Given the description of an element on the screen output the (x, y) to click on. 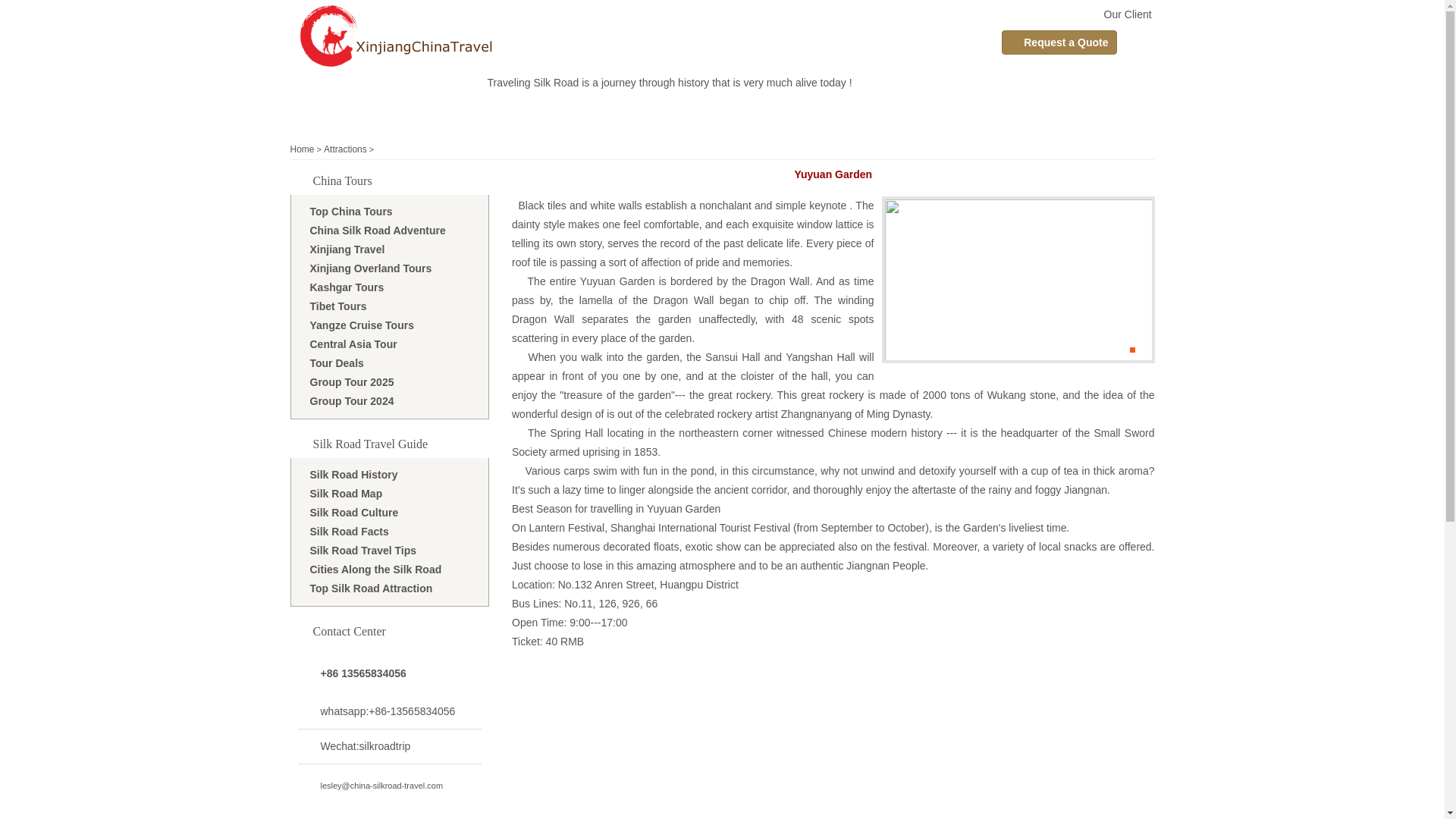
Our Client (1127, 14)
Silk Road Guide (927, 112)
Destinations (848, 112)
China Tours (539, 112)
Group Tours (615, 112)
About Us (1001, 112)
Central Asia Tours (762, 112)
Xinjiang Travel (463, 112)
Self-Drive (682, 112)
Silk Road Travel (377, 112)
